Given the description of an element on the screen output the (x, y) to click on. 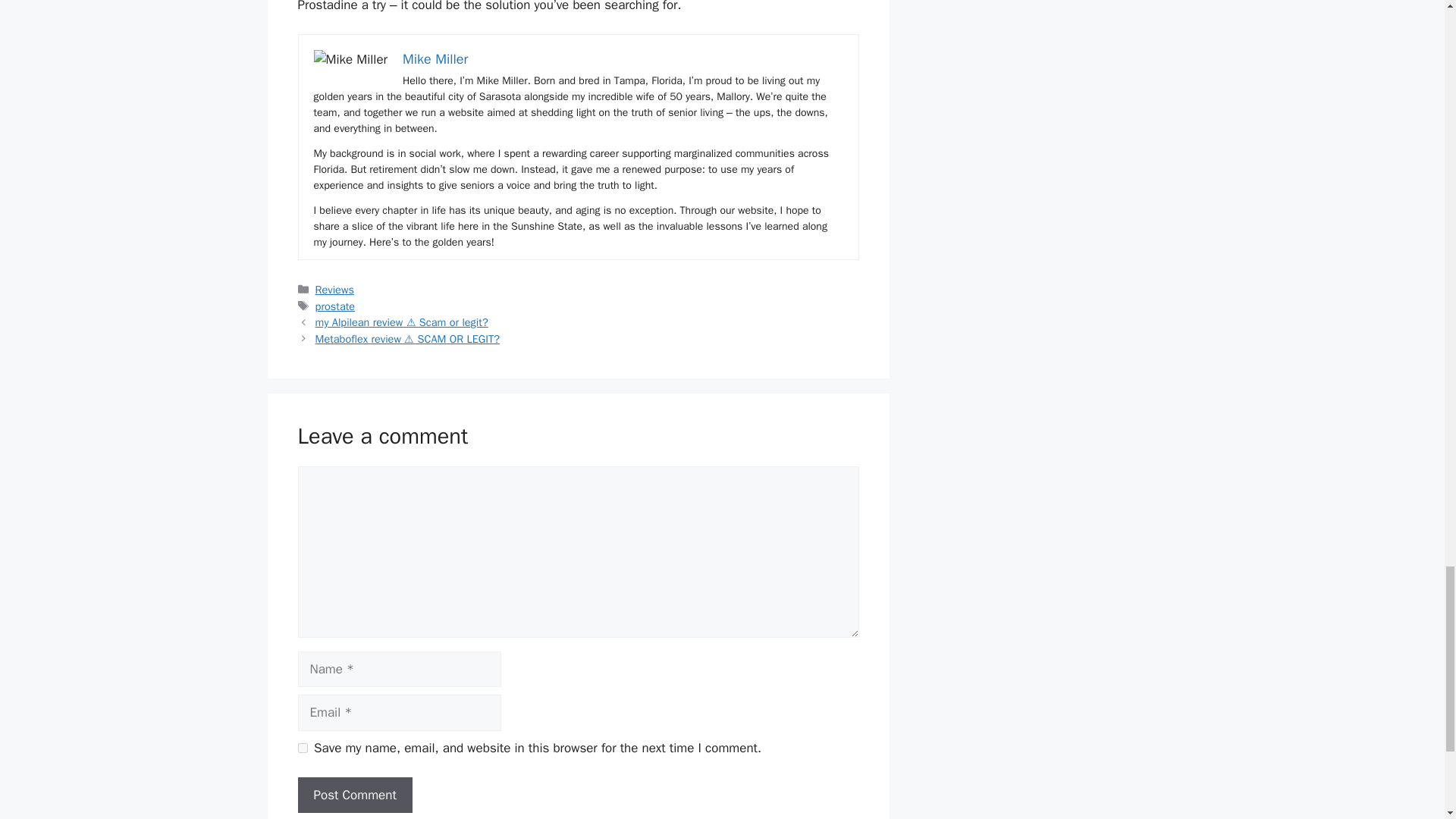
Reviews (334, 289)
Post Comment (354, 795)
Mike Miller (435, 58)
yes (302, 747)
prostate (335, 305)
Post Comment (354, 795)
